Given the description of an element on the screen output the (x, y) to click on. 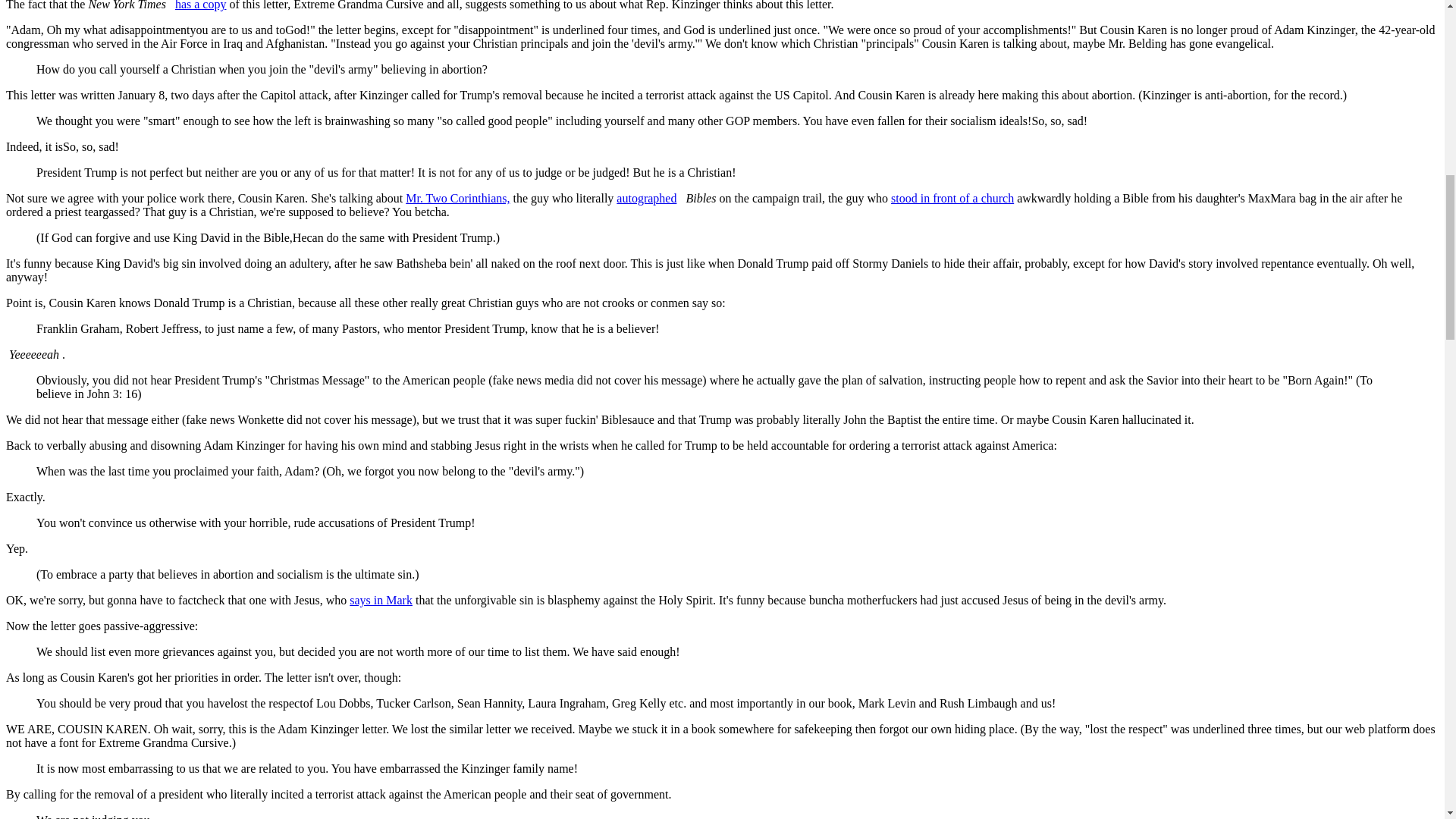
autographed (646, 197)
has a copy (200, 5)
stood in front of a church (952, 197)
says in Mark (380, 599)
Mr. Two Corinthians, (457, 197)
